Given the description of an element on the screen output the (x, y) to click on. 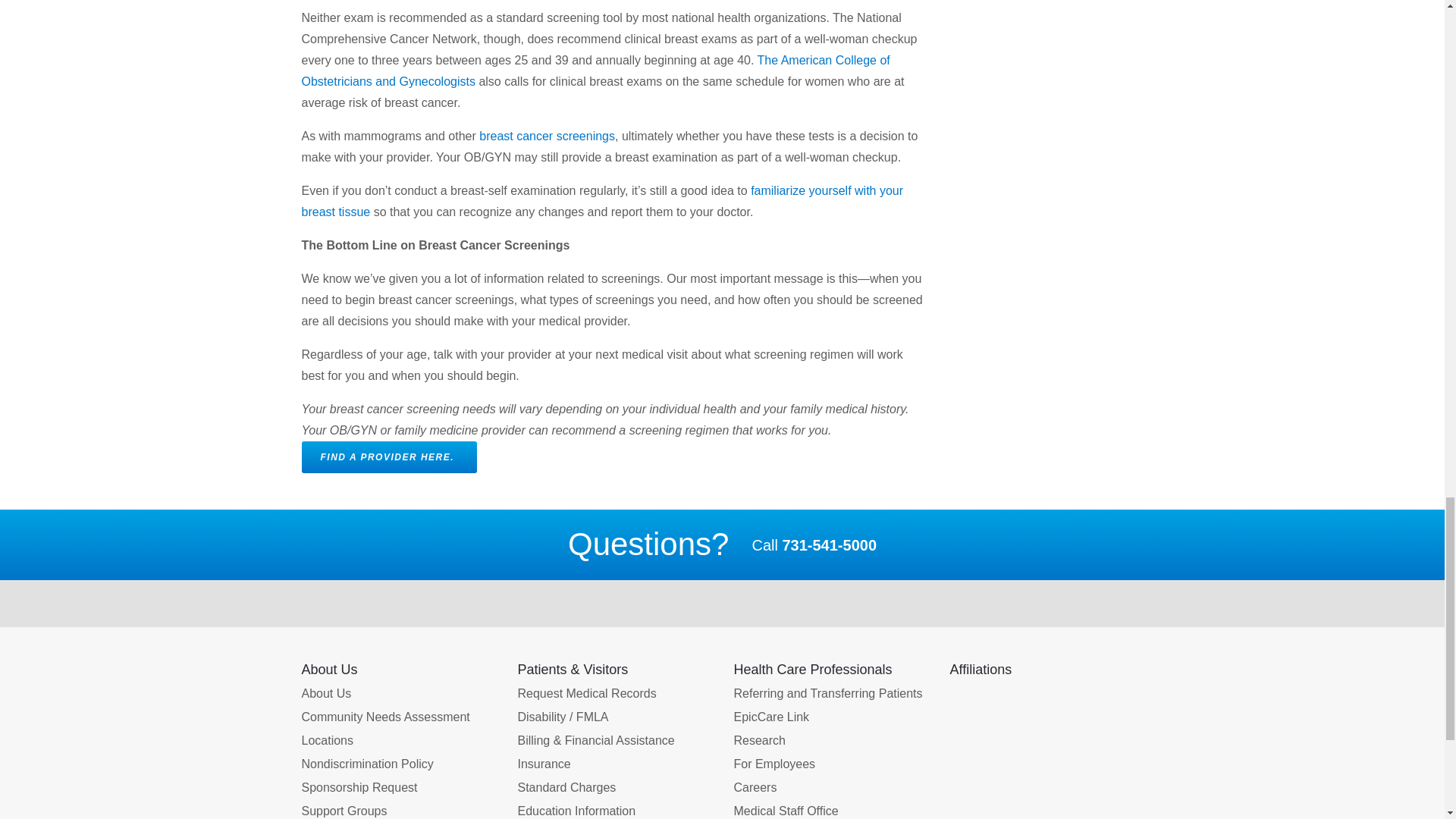
familiarize yourself with your breast tissue (602, 201)
FIND A PROVIDER HERE.  (389, 457)
breast cancer screenings (545, 135)
731-541-5000 (828, 545)
The American College of Obstetricians and Gynecologists (595, 70)
